Given the description of an element on the screen output the (x, y) to click on. 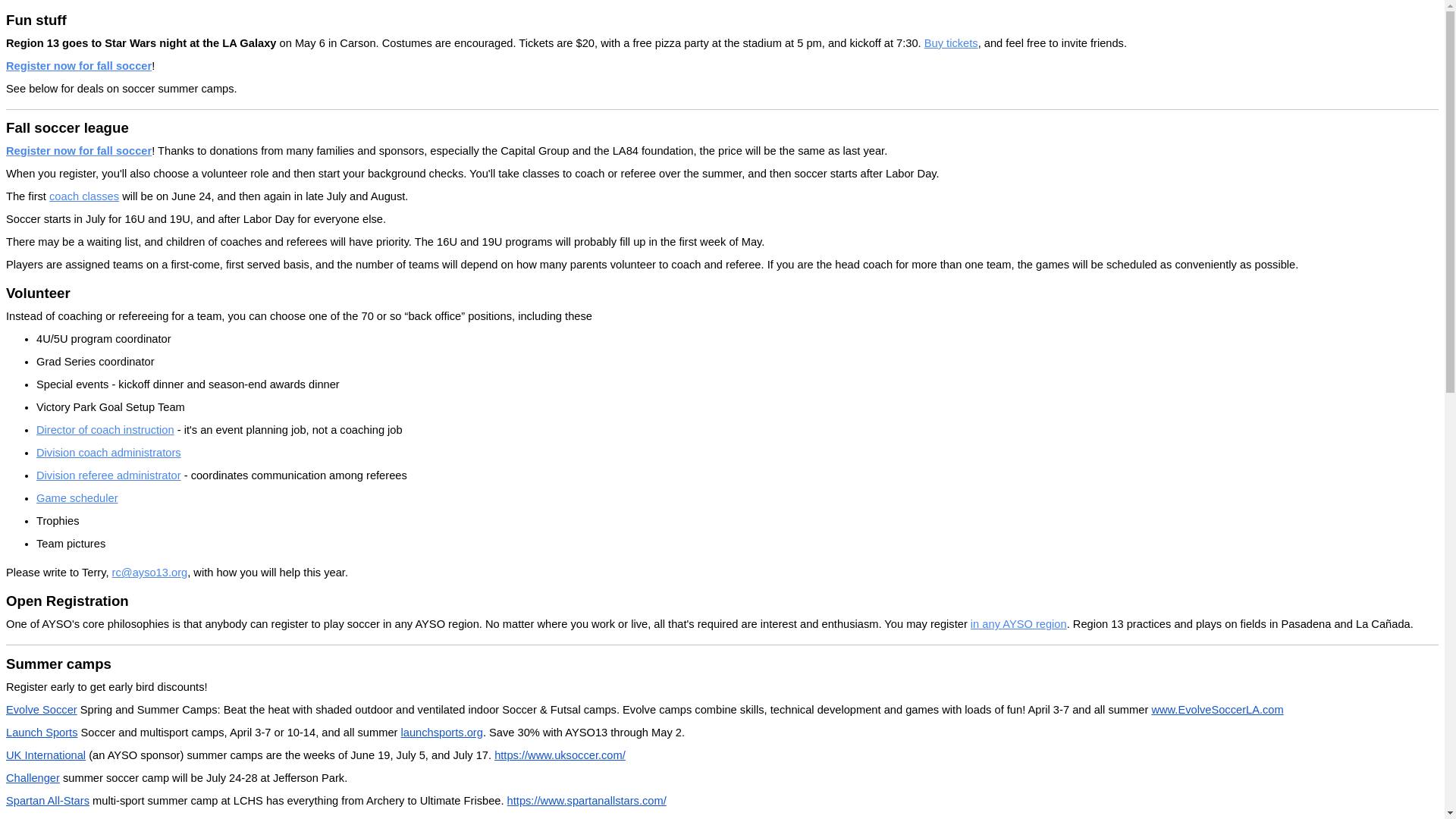
Register now for fall soccer (78, 150)
Division referee administrator (108, 475)
coach classes (84, 196)
in any AYSO region (1019, 623)
Division coach administrators (108, 452)
Director of coach instruction (105, 429)
www.EvolveSoccerLA.com (1216, 709)
Challenger (32, 777)
Rose Bowl Aquatic Center (70, 818)
Spartan All-Stars (46, 800)
